Given the description of an element on the screen output the (x, y) to click on. 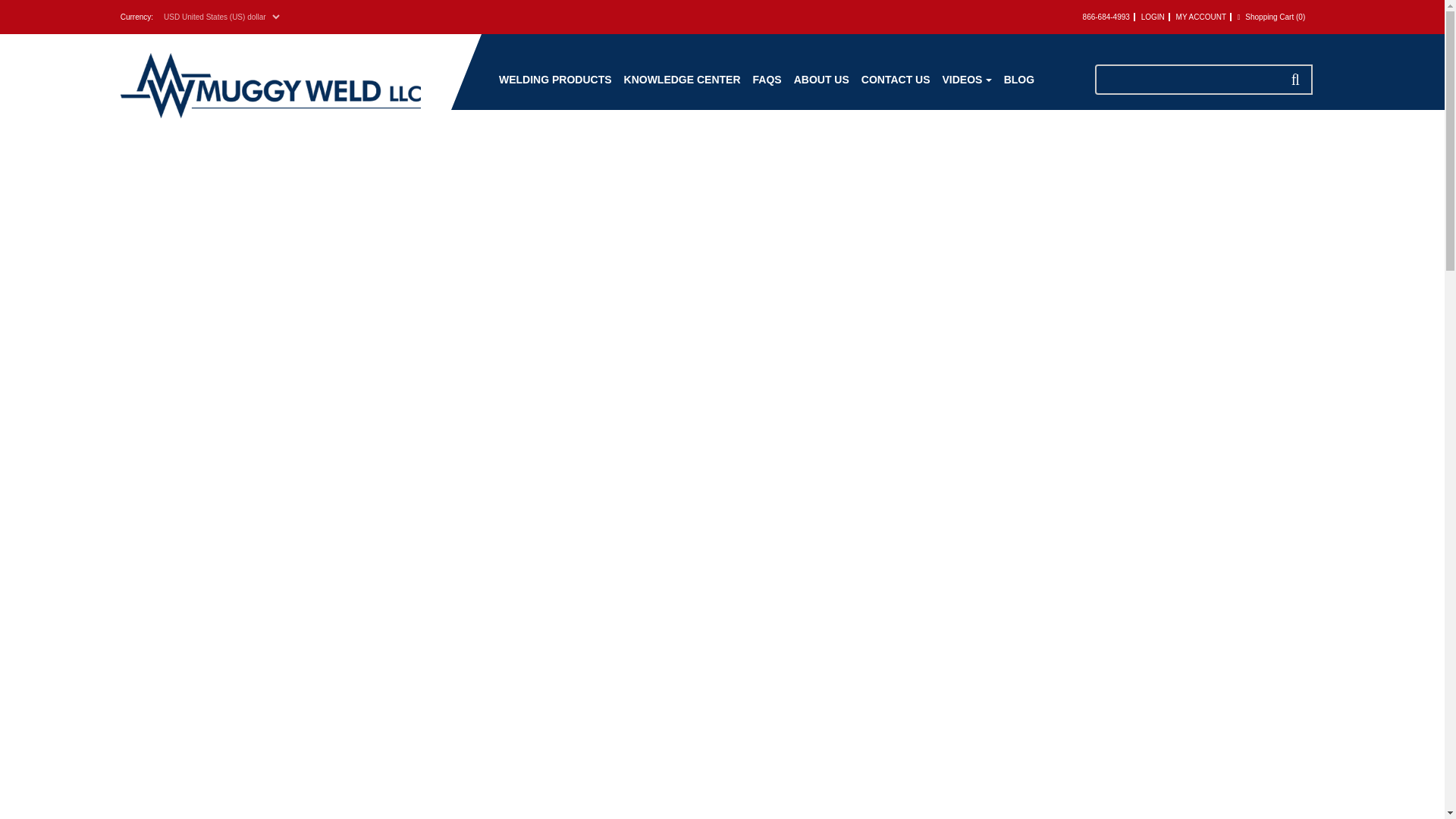
VIDEOS (966, 91)
CONTACT US (896, 91)
BLOG (1019, 91)
WELDING PRODUCTS (555, 91)
866-684-4993 (1109, 17)
FAQS (766, 91)
LOGIN (1155, 17)
ABOUT US (821, 91)
MY ACCOUNT (1203, 17)
KNOWLEDGE CENTER (681, 91)
